Given the description of an element on the screen output the (x, y) to click on. 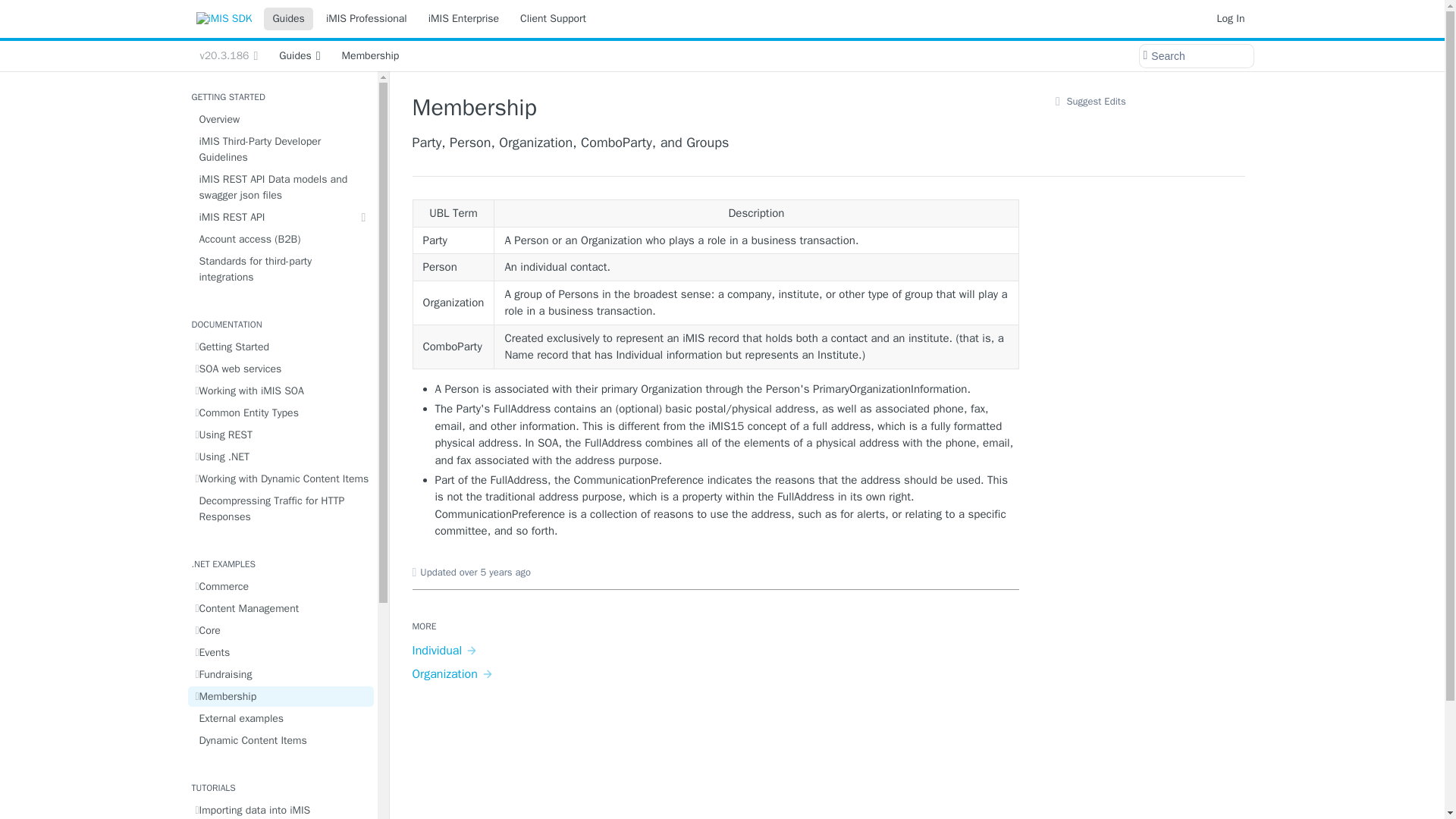
iMIS Third-Party Developer Guidelines (280, 149)
iMIS Professional (365, 18)
iMIS REST API Data models and swagger json files (280, 186)
SOA web services (280, 368)
iMIS Enterprise (463, 18)
iMIS REST API (280, 217)
Working with iMIS SOA (280, 390)
Log In (1230, 18)
Standards for third-party integrations (280, 268)
Client Support (553, 18)
